Given the description of an element on the screen output the (x, y) to click on. 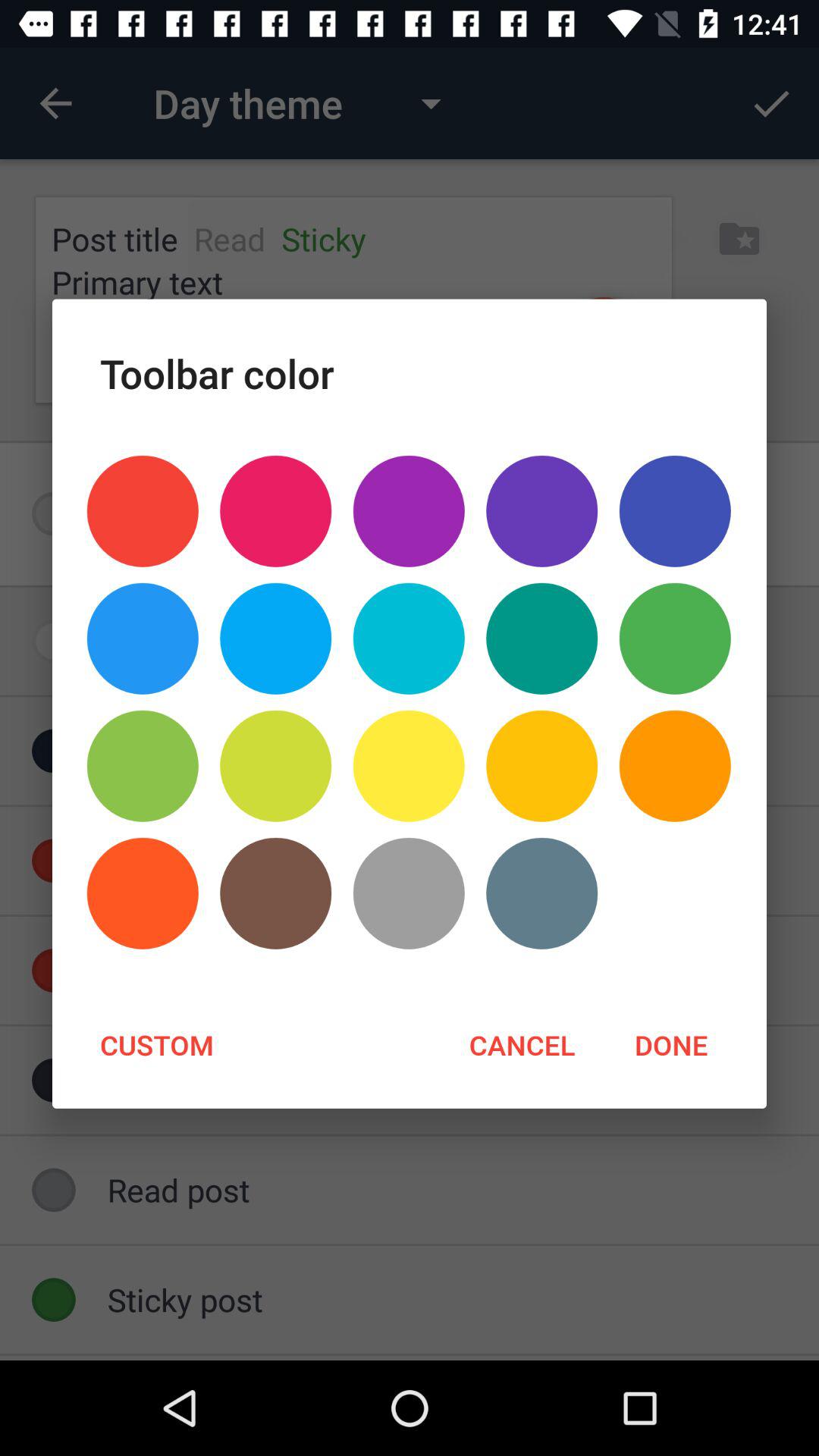
open the icon above custom icon (275, 893)
